Given the description of an element on the screen output the (x, y) to click on. 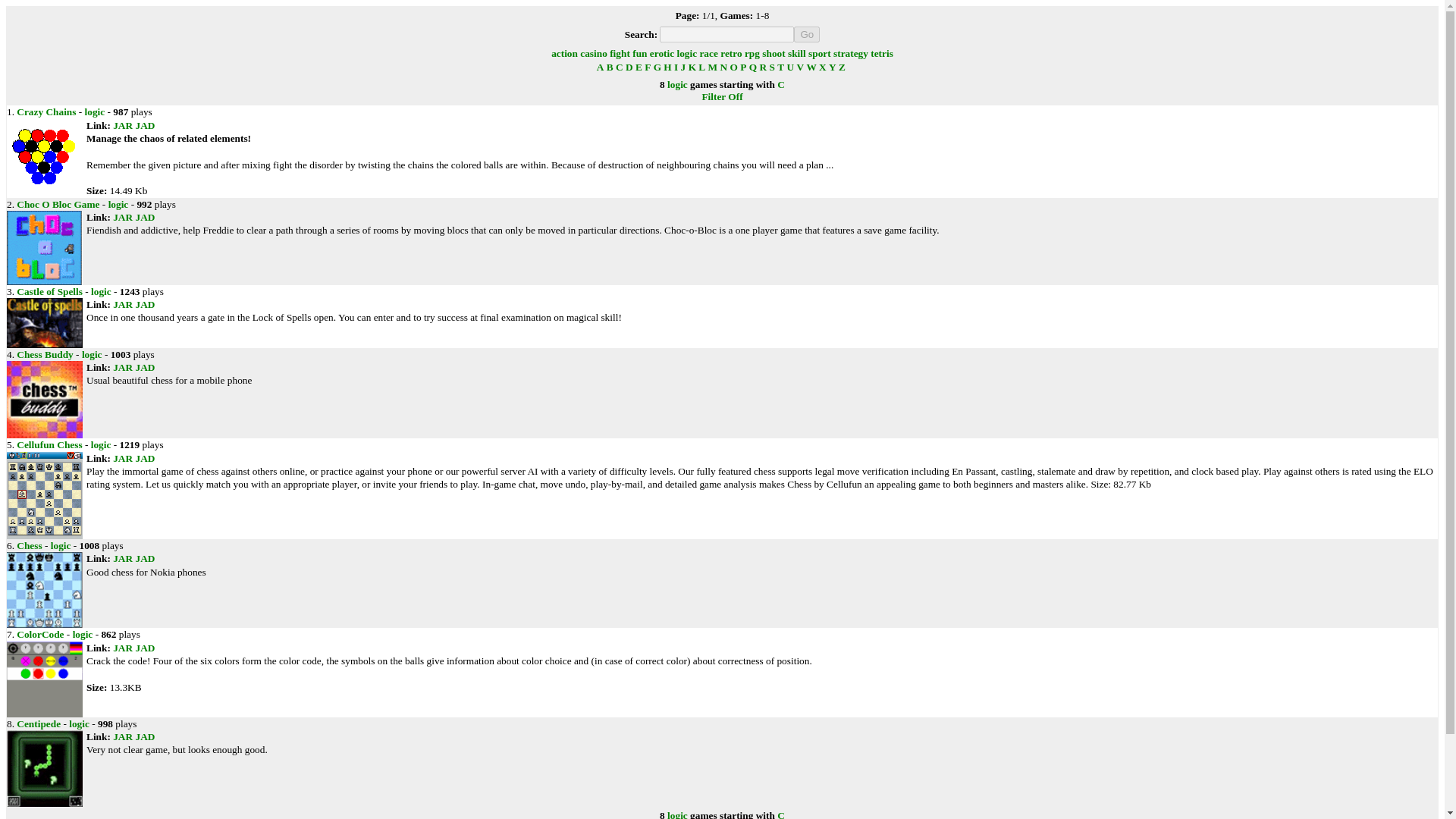
tetris (881, 52)
Display only 'retro' games... (730, 52)
Display only 'erotic' games... (661, 52)
erotic (661, 52)
fight (620, 52)
Display only 'action' games... (564, 52)
casino (593, 52)
fun (638, 52)
Display only 'fight' games... (620, 52)
rpg (752, 52)
